Given the description of an element on the screen output the (x, y) to click on. 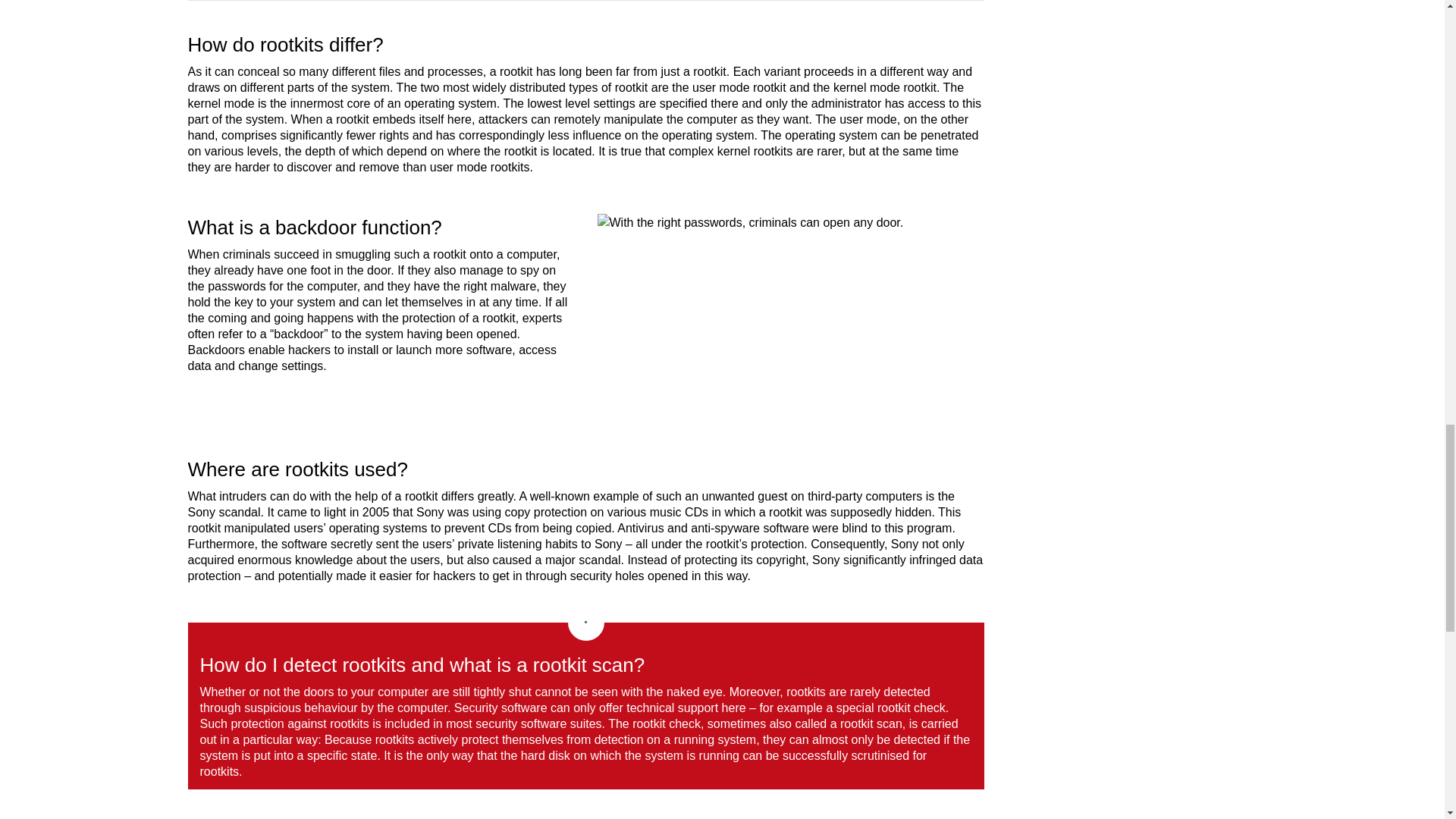
With the right passwords, criminals can open any door. (790, 314)
